Given the description of an element on the screen output the (x, y) to click on. 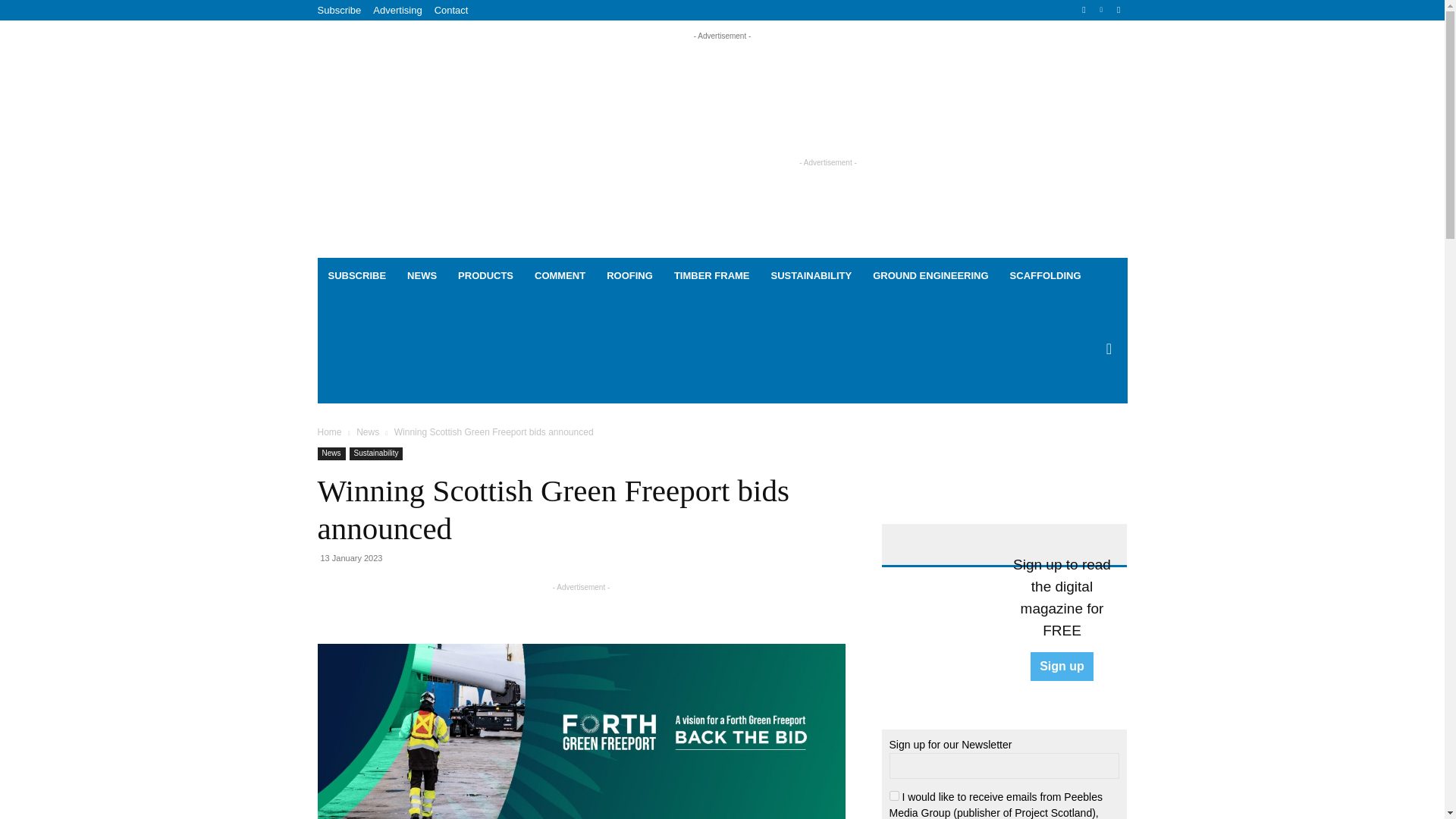
PRODUCTS (485, 275)
Twitter (1117, 9)
SUSTAINABILITY (811, 275)
Project Scotland (526, 153)
Facebook (1084, 9)
ROOFING (629, 275)
GROUND ENGINEERING (929, 275)
SCAFFOLDING (1045, 275)
View all posts in News (367, 431)
on (893, 795)
